Given the description of an element on the screen output the (x, y) to click on. 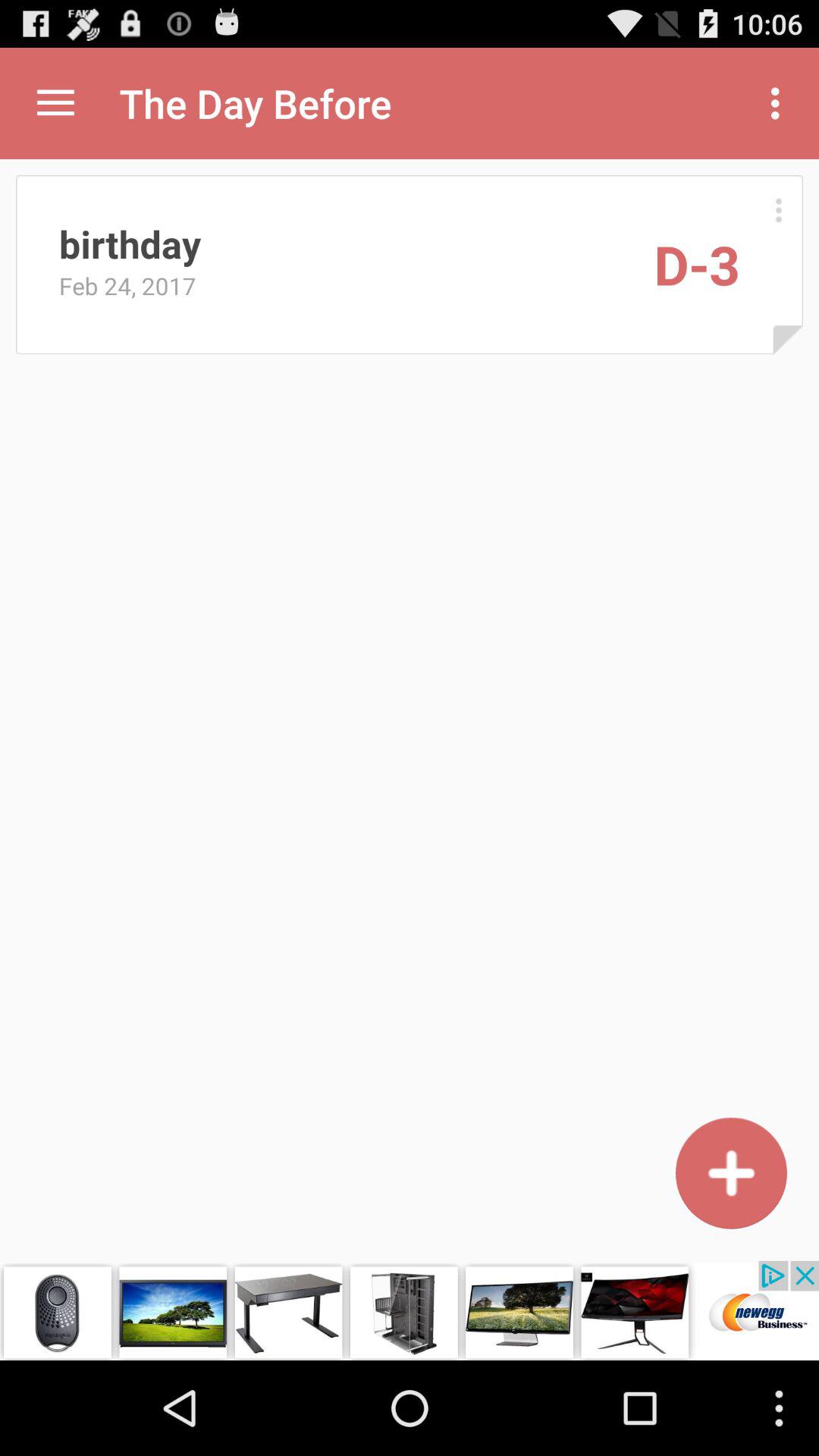
view menu (55, 103)
